Given the description of an element on the screen output the (x, y) to click on. 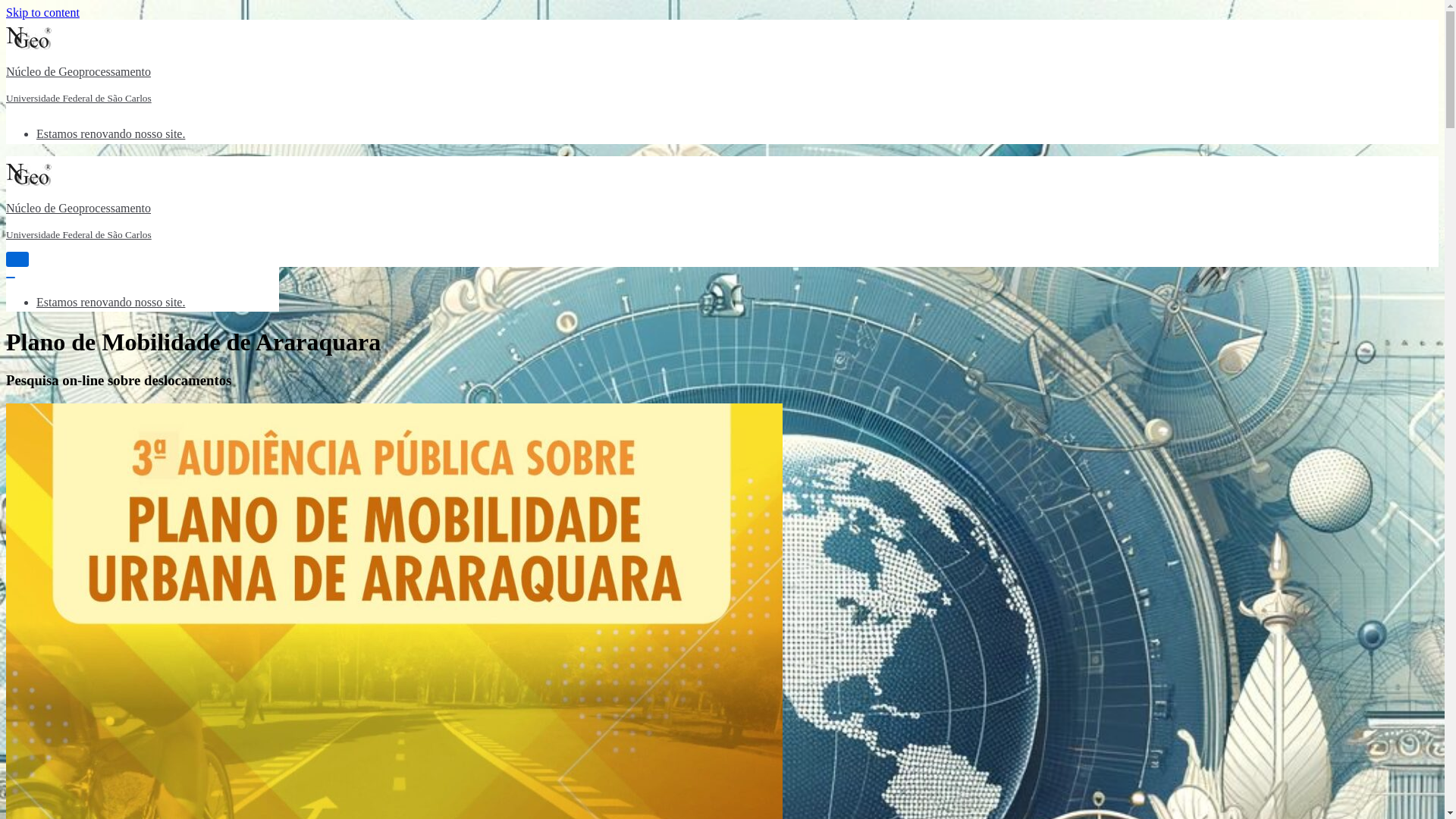
Estamos renovando nosso site. Element type: text (110, 301)
Skip to content Element type: text (42, 12)
Estamos renovando nosso site. Element type: text (110, 133)
Toggle Navigation Element type: text (17, 258)
Toggle Navigation Element type: text (10, 277)
